Given the description of an element on the screen output the (x, y) to click on. 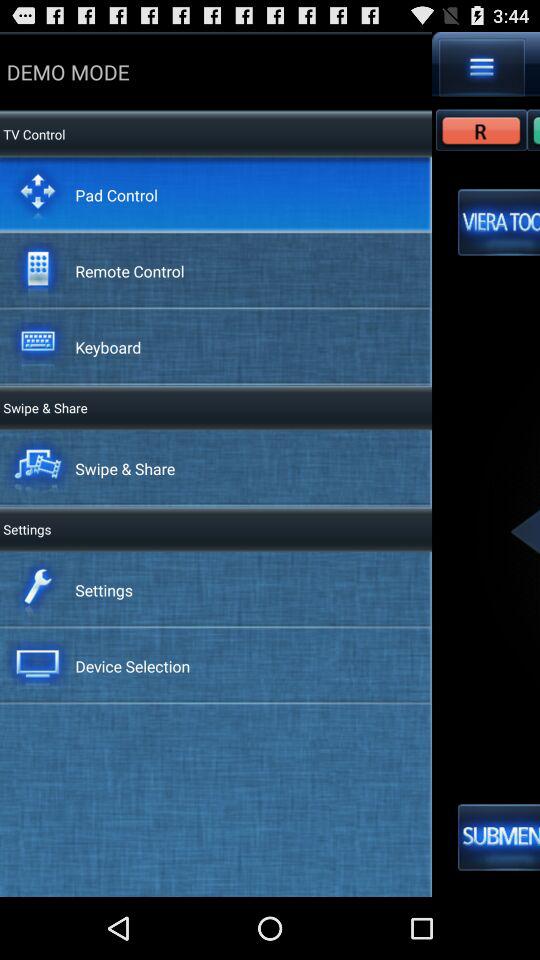
submit (499, 837)
